Given the description of an element on the screen output the (x, y) to click on. 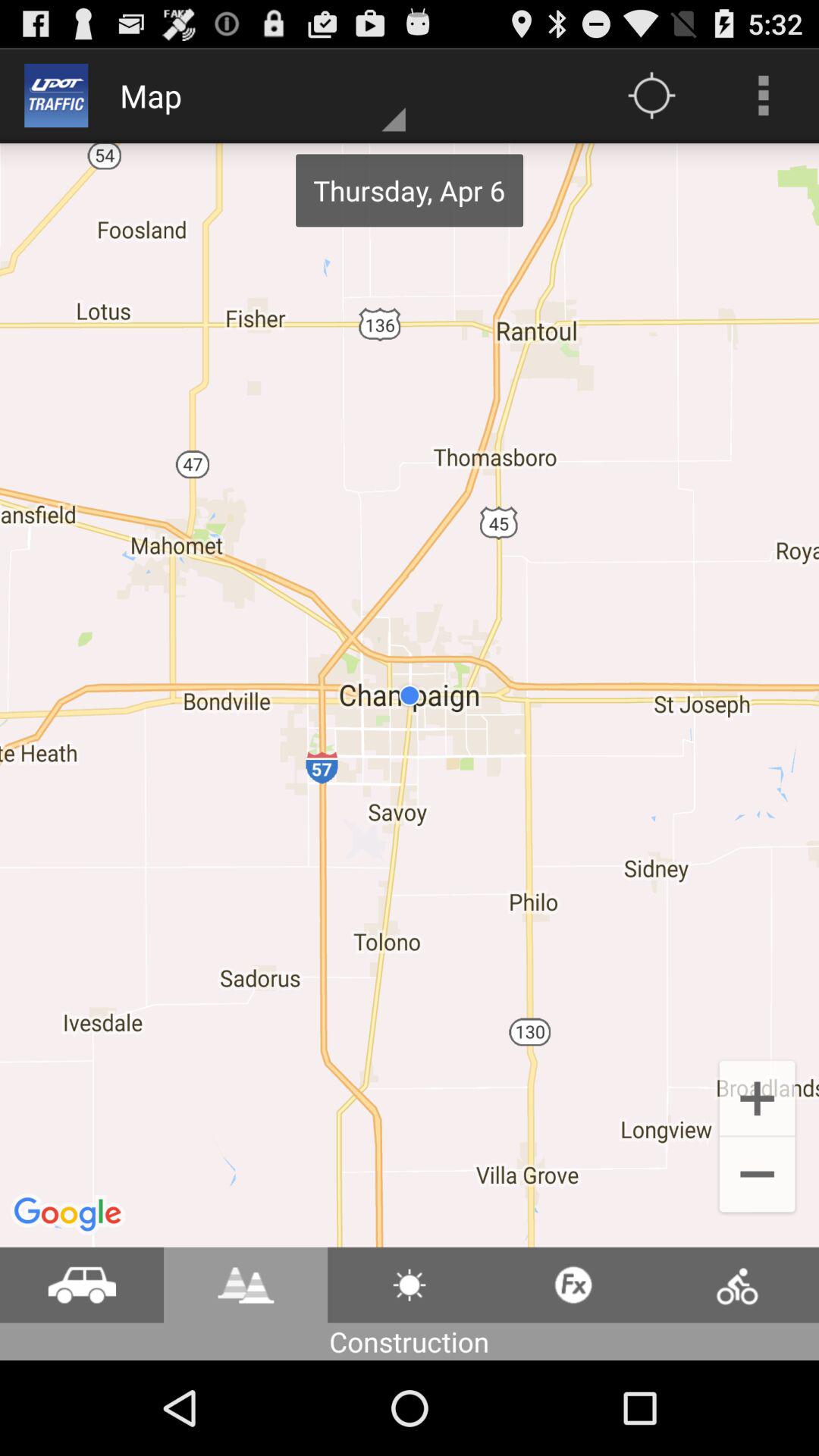
drive (81, 1284)
